Given the description of an element on the screen output the (x, y) to click on. 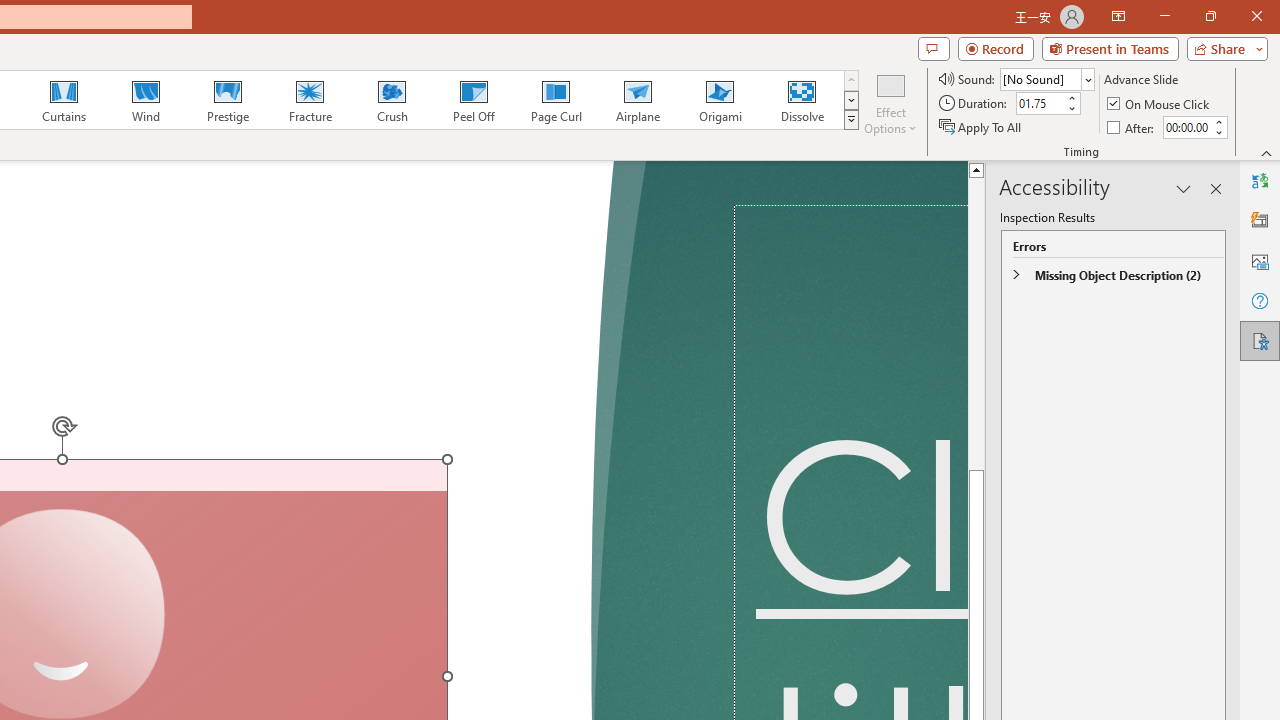
Wind (145, 100)
Prestige (227, 100)
Apply To All (981, 126)
More (1218, 121)
After (1186, 127)
Crush (391, 100)
Effect Options (890, 102)
Fracture (309, 100)
Curtains (63, 100)
Dissolve (802, 100)
Sound (1046, 78)
